Given the description of an element on the screen output the (x, y) to click on. 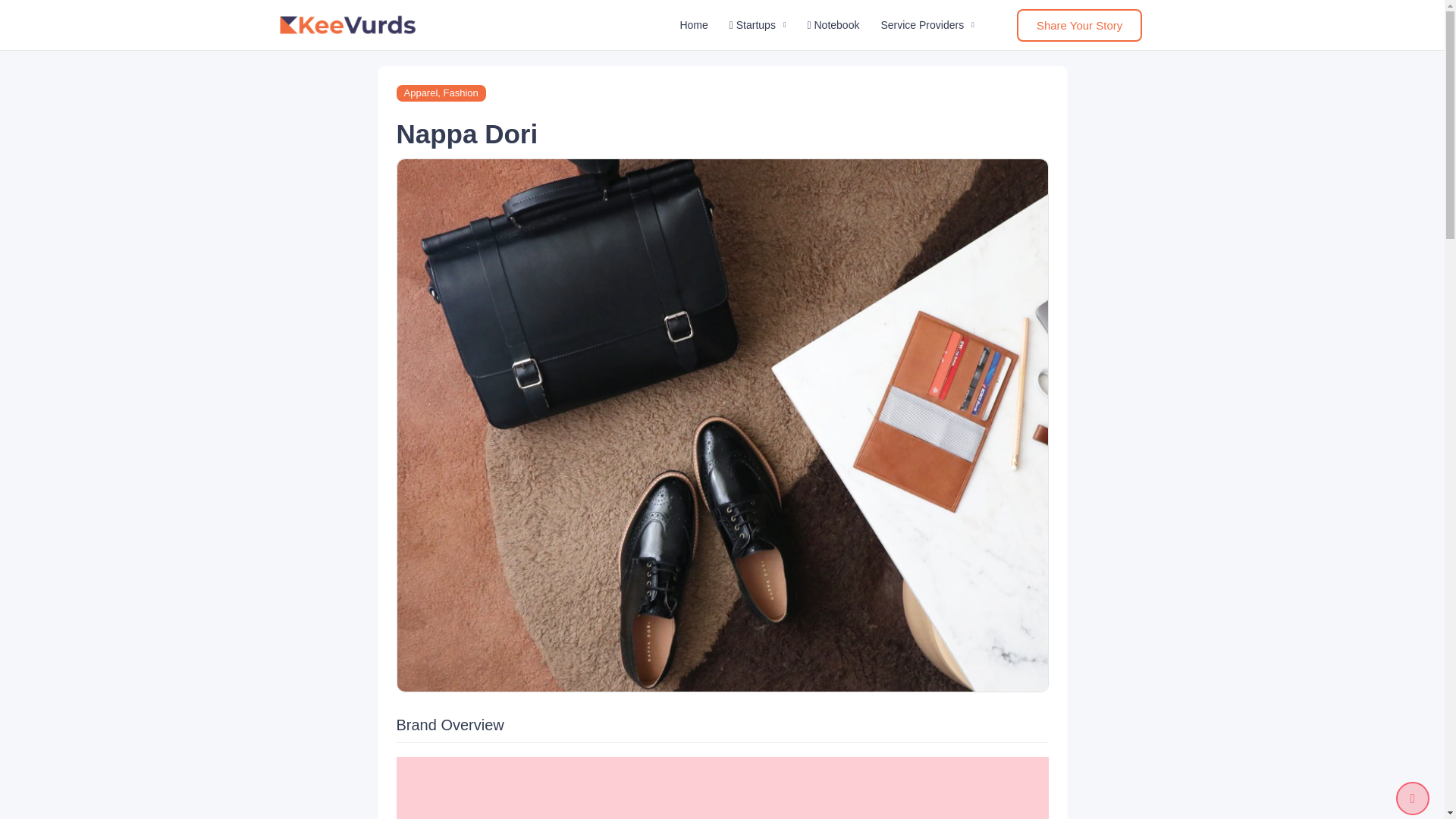
Advertisement (722, 787)
Service Providers (926, 24)
Home (692, 24)
